Given the description of an element on the screen output the (x, y) to click on. 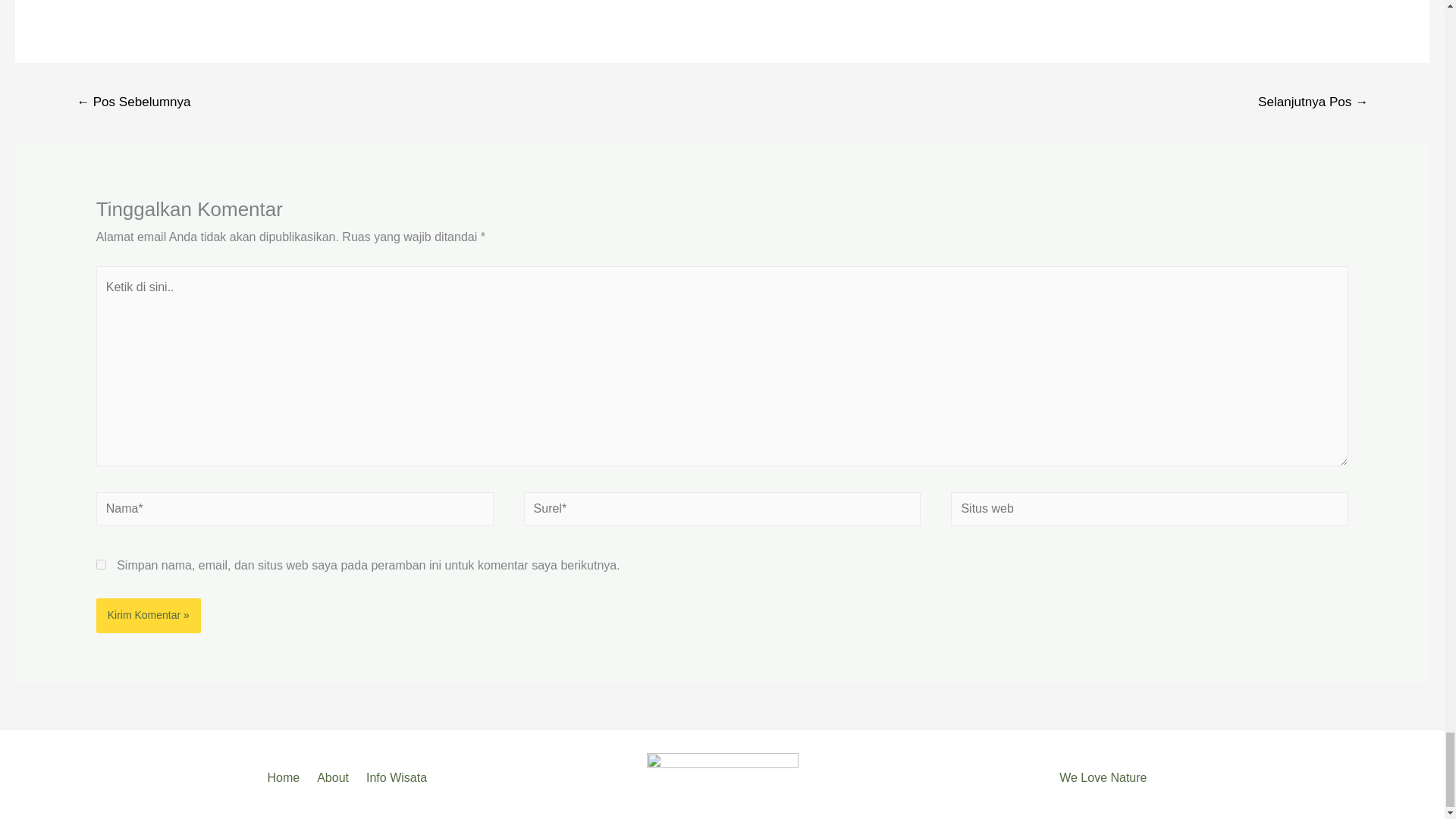
yes (101, 564)
